Given the description of an element on the screen output the (x, y) to click on. 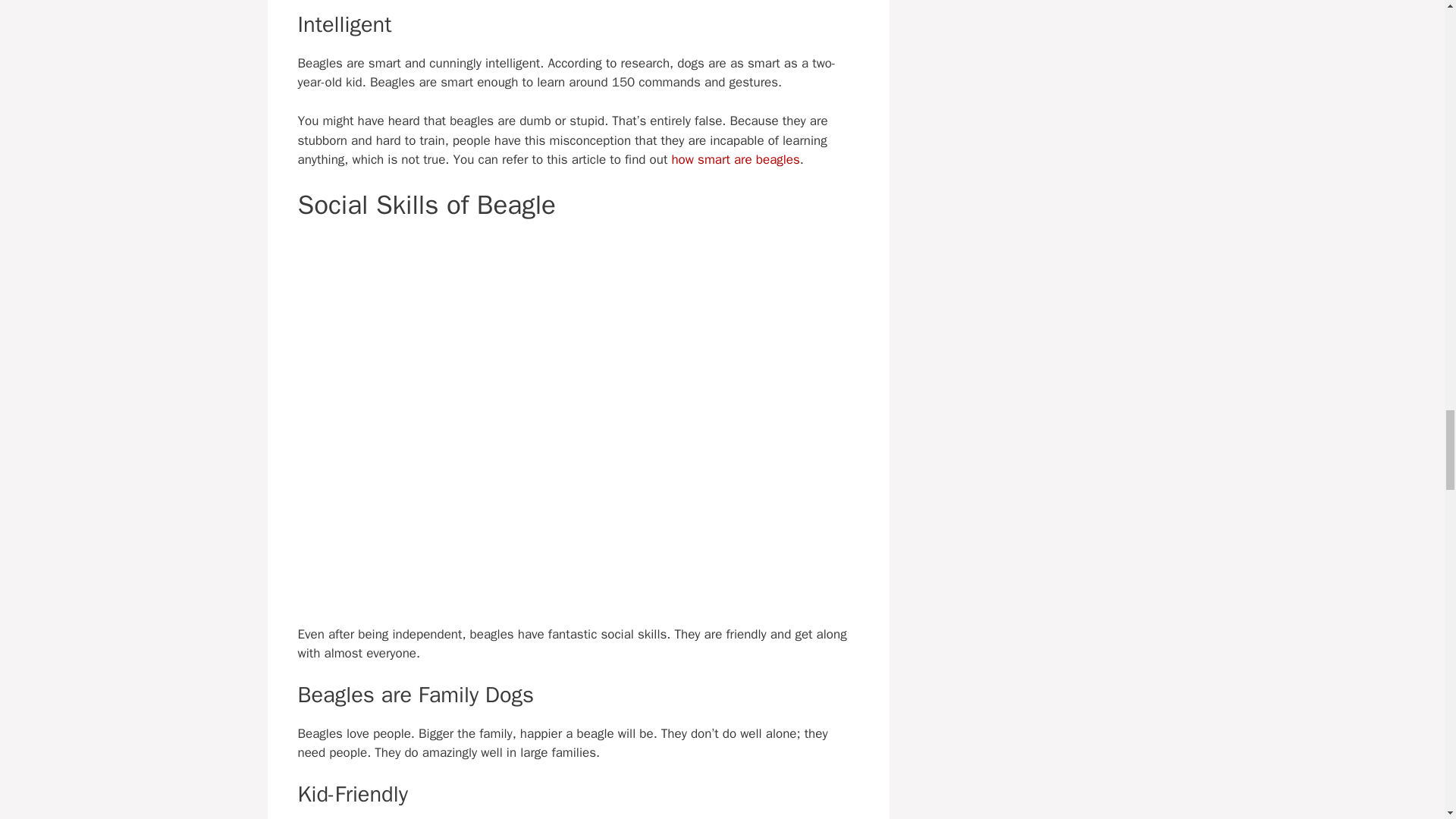
how smart are beagles (735, 159)
